Given the description of an element on the screen output the (x, y) to click on. 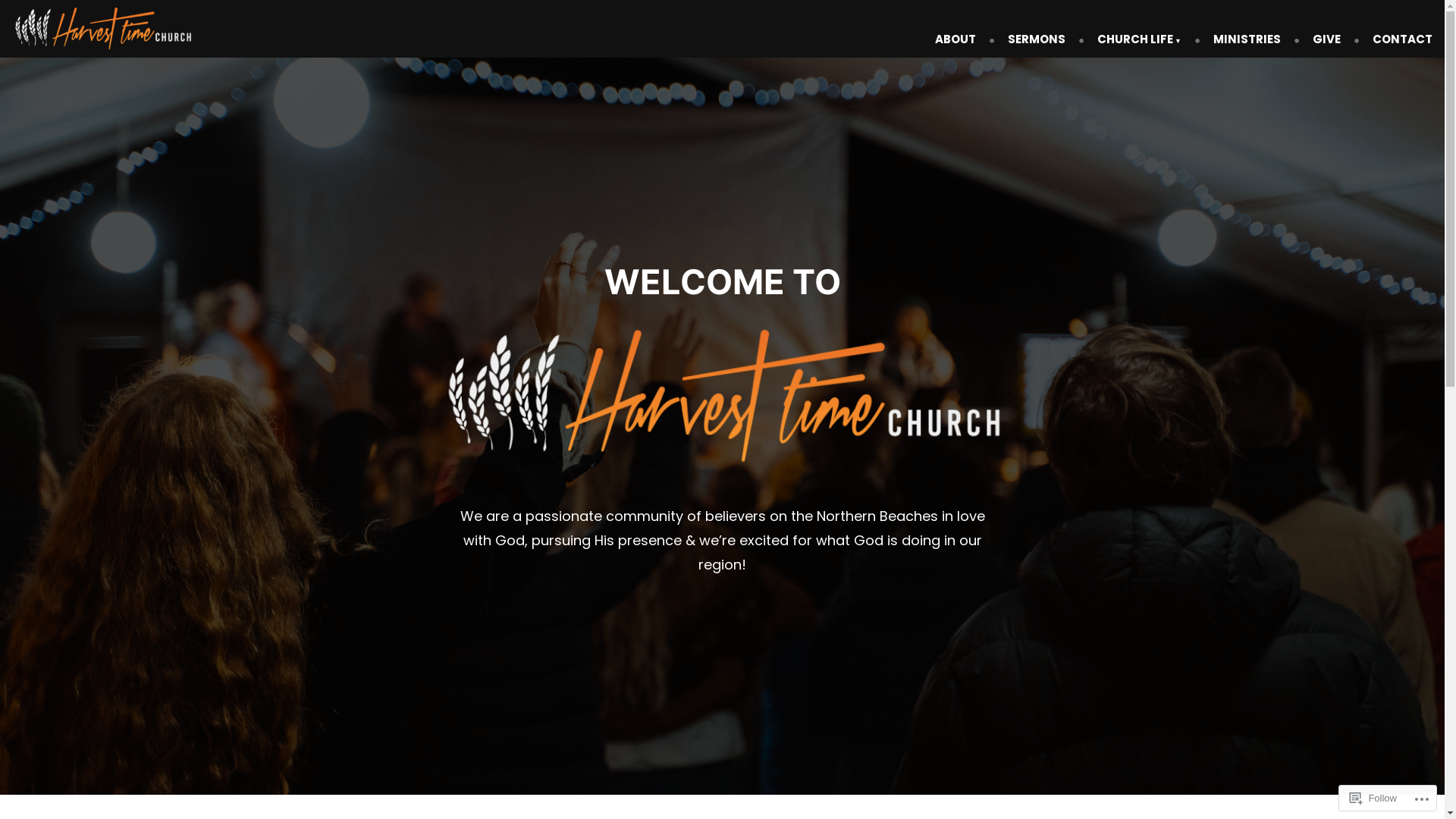
MINISTRIES Element type: text (1246, 40)
GIVE Element type: text (1326, 40)
SERMONS Element type: text (1036, 40)
Follow Element type: text (1372, 797)
CHURCH LIFE Element type: text (1139, 40)
CONTACT Element type: text (1396, 40)
ABOUT Element type: text (961, 40)
